Given the description of an element on the screen output the (x, y) to click on. 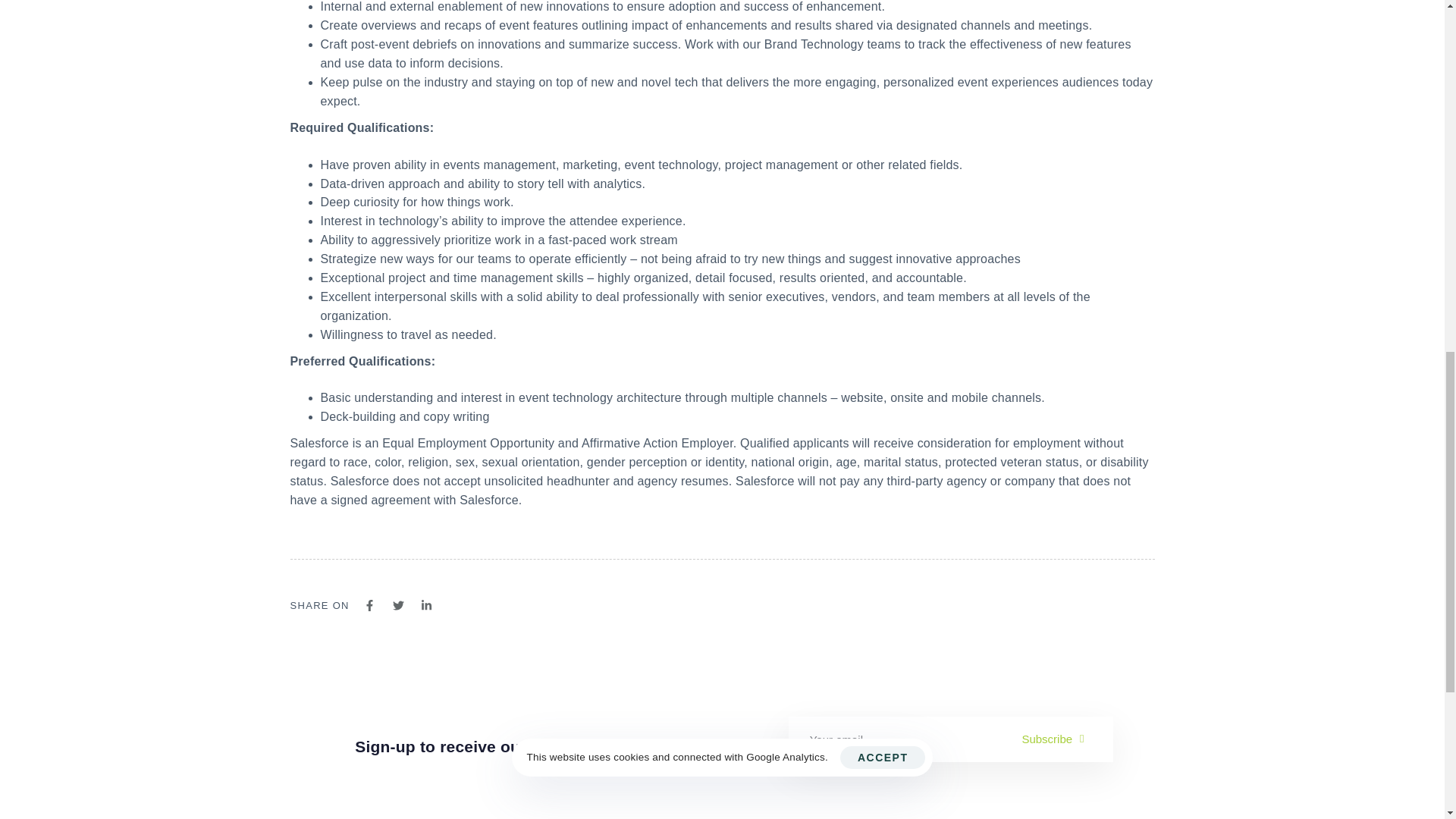
Subscribe (1062, 738)
